Given the description of an element on the screen output the (x, y) to click on. 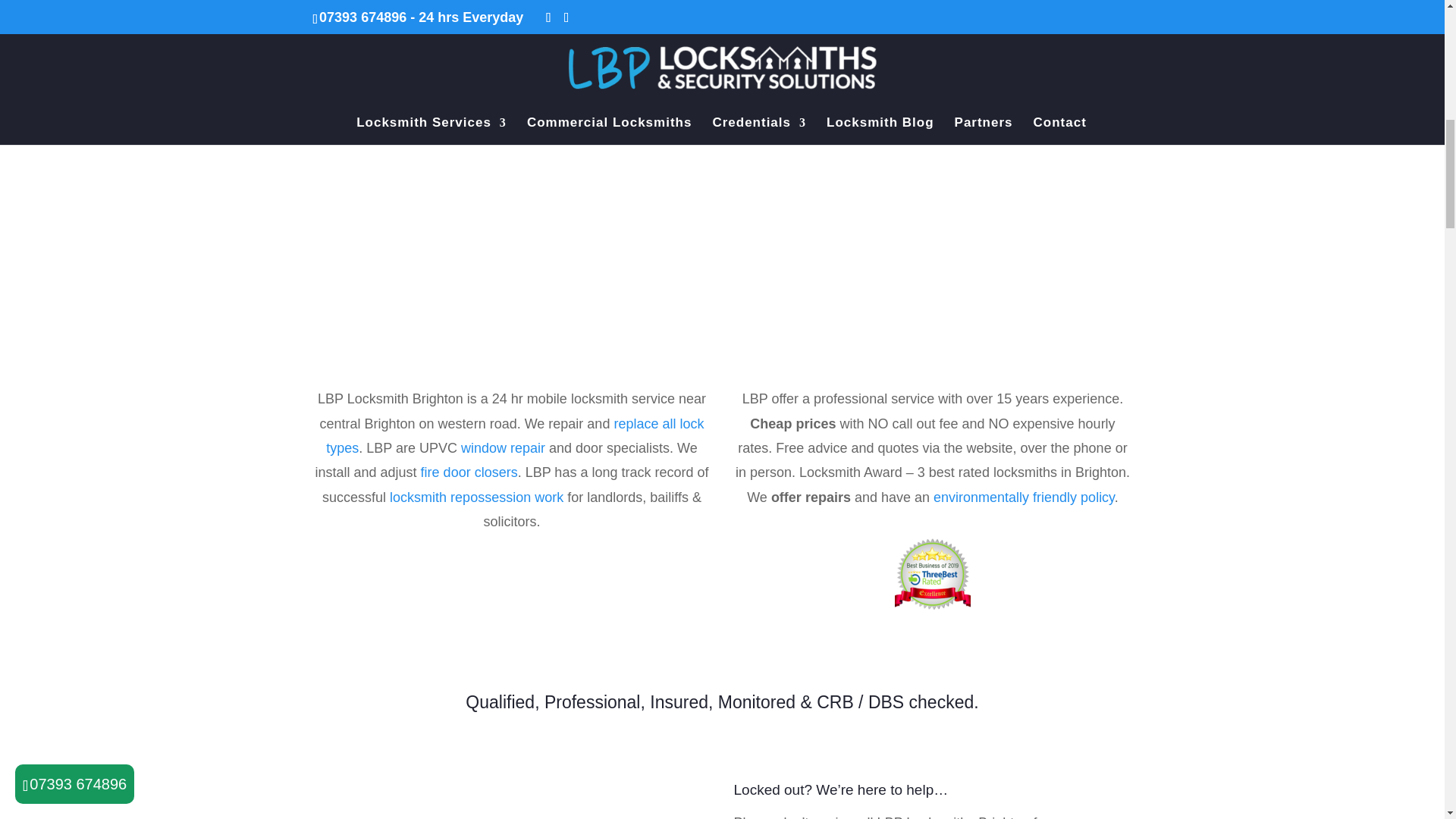
environmentally friendly policy (1024, 497)
fire door closers (469, 472)
replace all lock types (514, 435)
locksmith repossession work (476, 497)
window repair (502, 447)
3-best-rated-locksmith-award (933, 573)
